Given the description of an element on the screen output the (x, y) to click on. 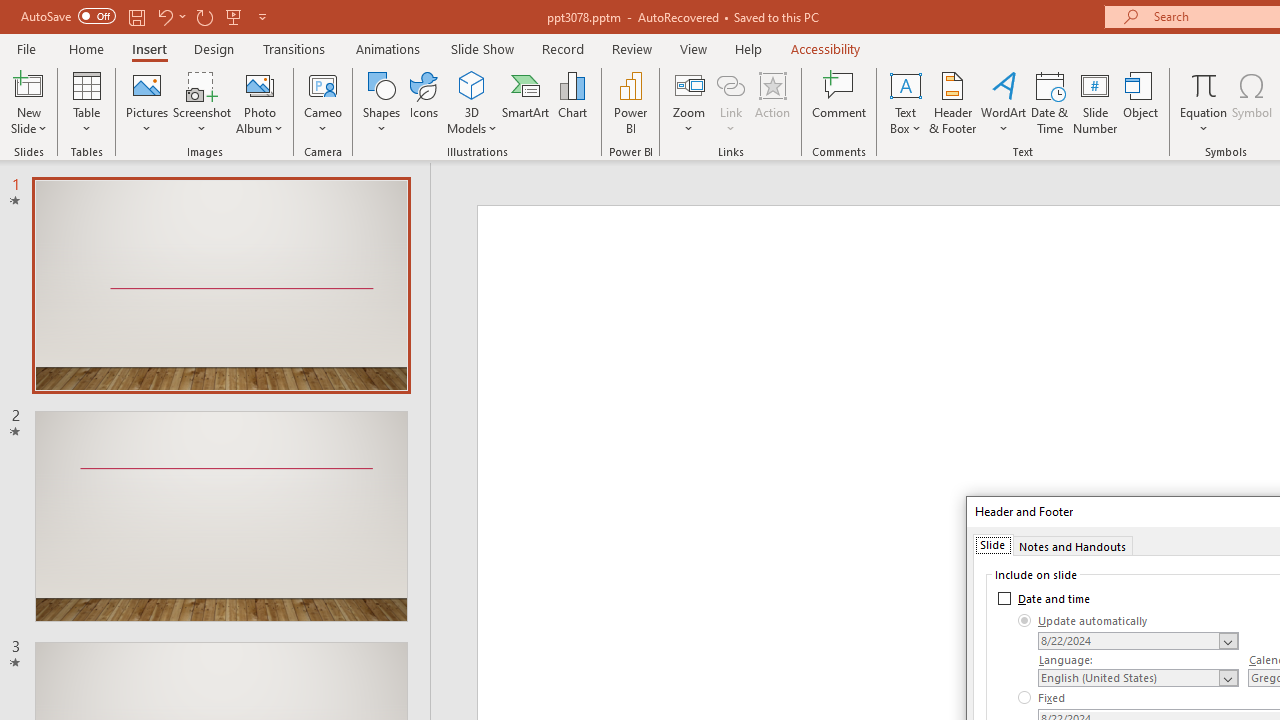
New Photo Album... (259, 84)
Icons (424, 102)
Date & Time... (1050, 102)
